Given the description of an element on the screen output the (x, y) to click on. 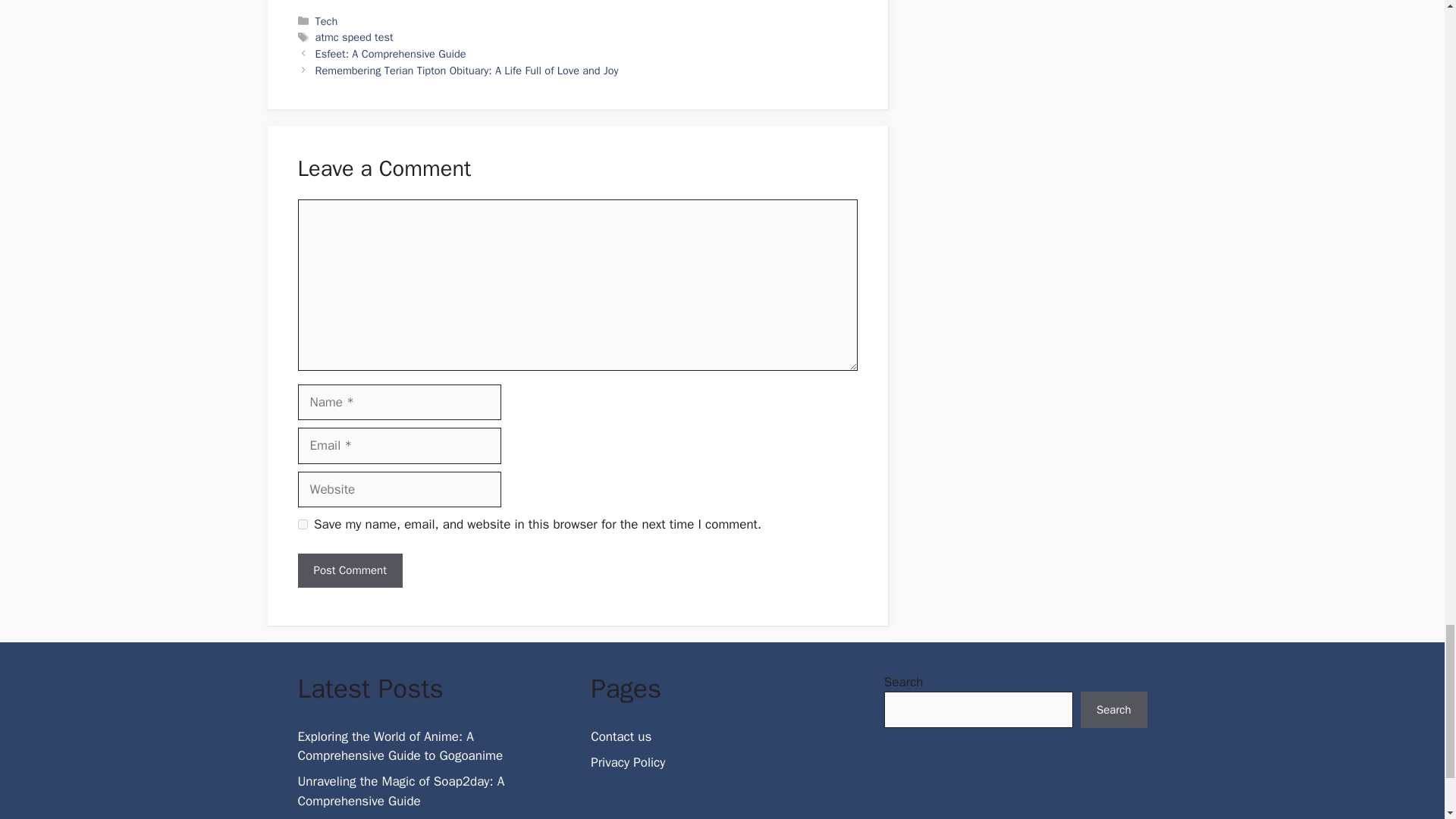
Post Comment (349, 570)
Unraveling the Magic of Soap2day: A Comprehensive Guide (400, 791)
Search (1113, 709)
Privacy Policy (628, 762)
Esfeet: A Comprehensive Guide (390, 53)
Tech (326, 20)
Post Comment (349, 570)
yes (302, 524)
Contact us (620, 736)
atmc speed test (354, 37)
